Given the description of an element on the screen output the (x, y) to click on. 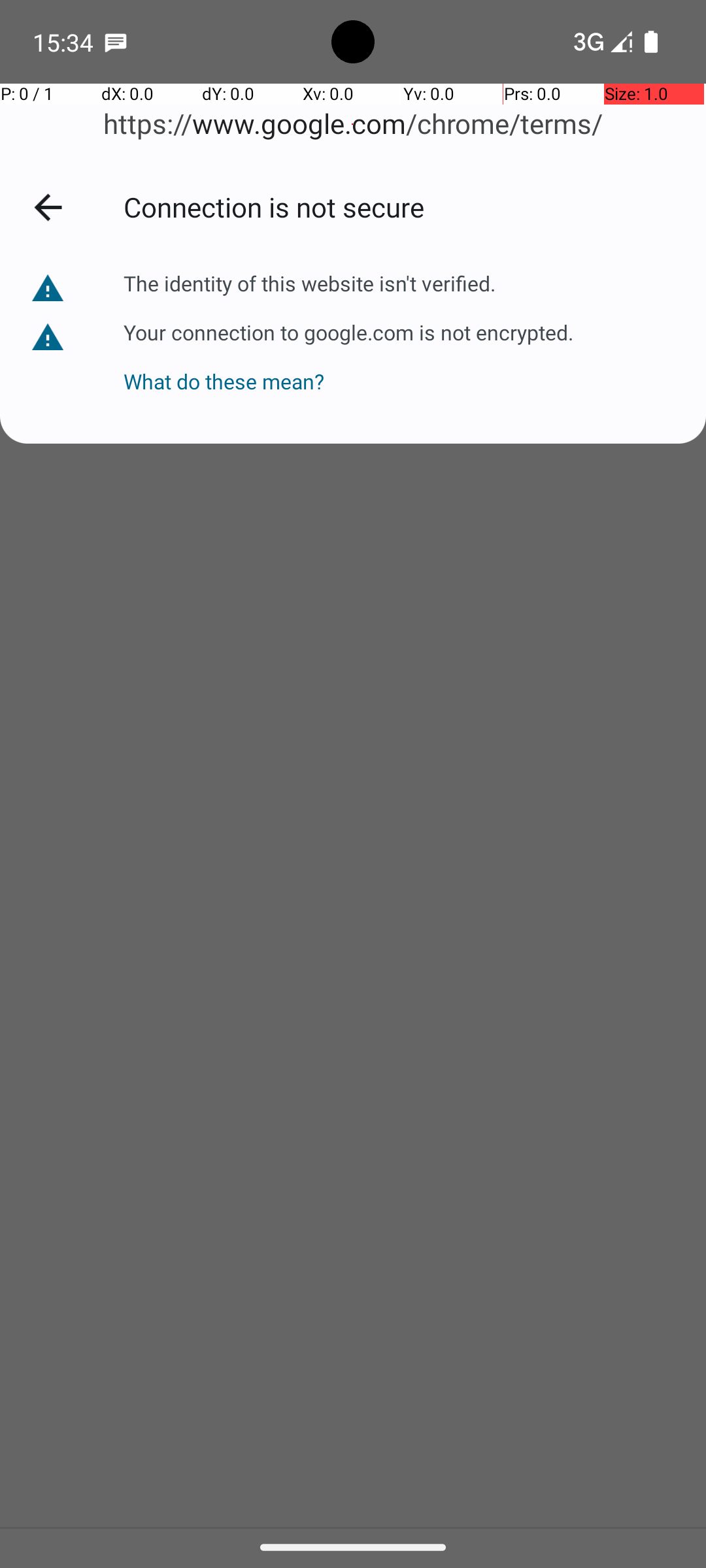
Back Element type: android.widget.ImageButton (47, 206)
Connection is not secure Element type: android.widget.TextView (400, 206)
The identity of this website isn't verified. Element type: android.widget.TextView (309, 283)
Your connection to google.com is not encrypted. Element type: android.widget.TextView (348, 332)
What do these mean? Element type: android.widget.TextView (348, 370)
https://www.google.com/chrome/terms/ Element type: android.widget.TextView (352, 124)
SMS Messenger notification: +10214033213 Element type: android.widget.ImageView (115, 41)
